Given the description of an element on the screen output the (x, y) to click on. 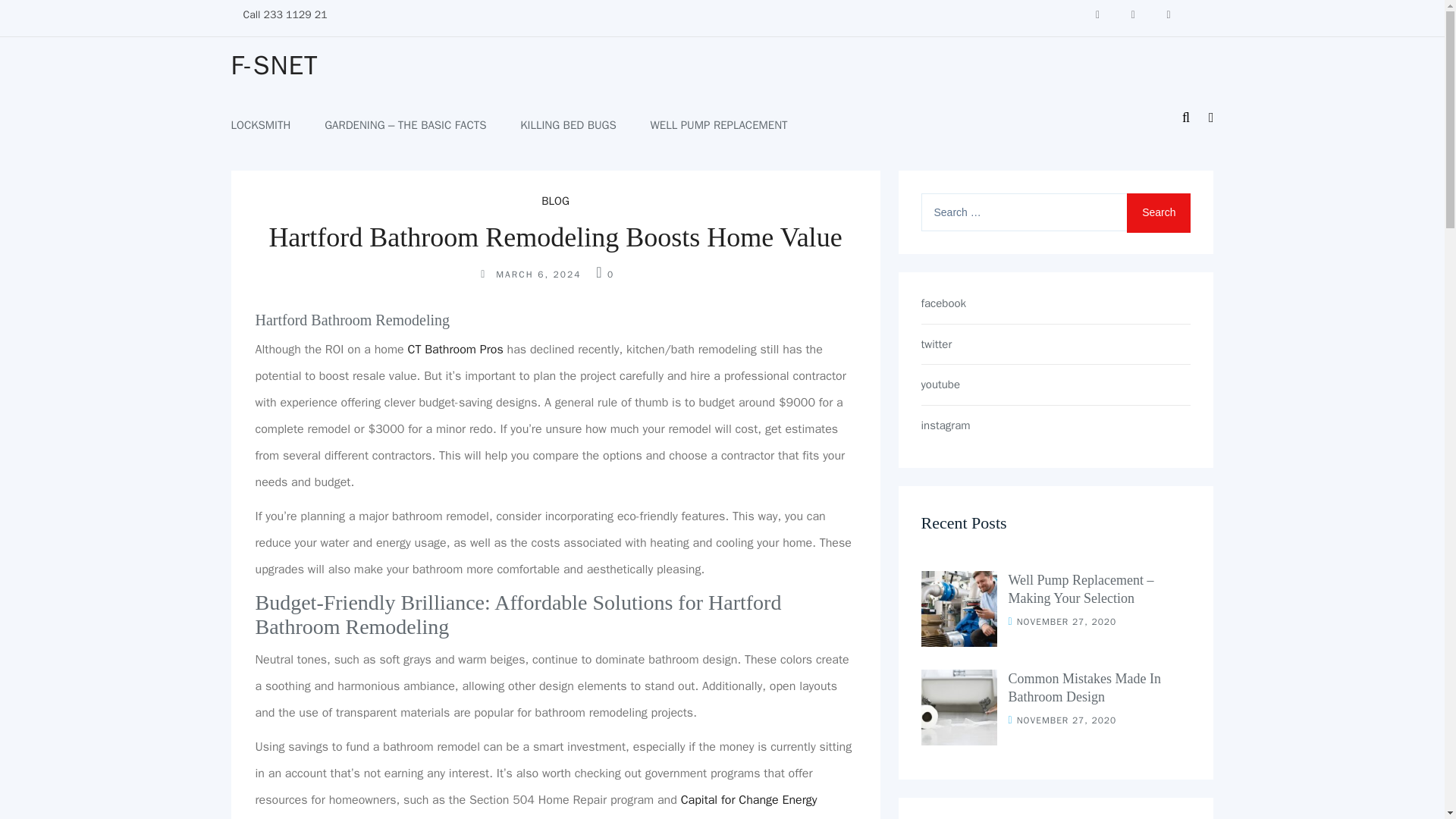
facebook (1055, 303)
Search (1158, 212)
Call 233 1129 21 (284, 14)
Search (1158, 212)
Capital for Change Energy Efficiency Loans. (535, 805)
instagram (1055, 425)
WELL PUMP REPLACEMENT (718, 124)
Post Category (555, 201)
Search (1158, 212)
F-SNET (273, 64)
KILLING BED BUGS (567, 124)
Common Mistakes Made In Bathroom Design (1084, 687)
CT Bathroom Pros (455, 349)
youtube (1055, 384)
BLOG (555, 201)
